Given the description of an element on the screen output the (x, y) to click on. 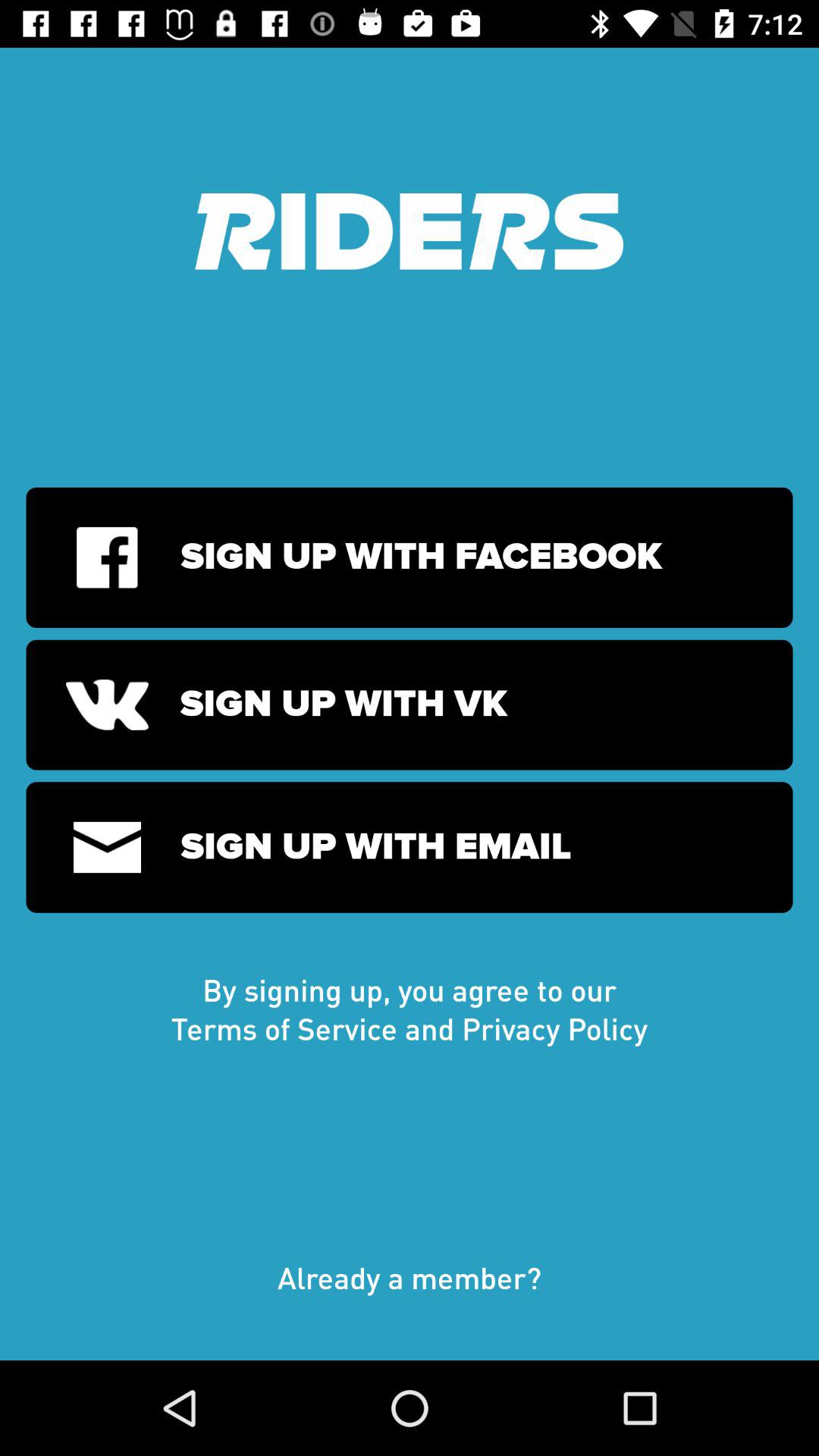
jump until already a member? icon (409, 1293)
